Given the description of an element on the screen output the (x, y) to click on. 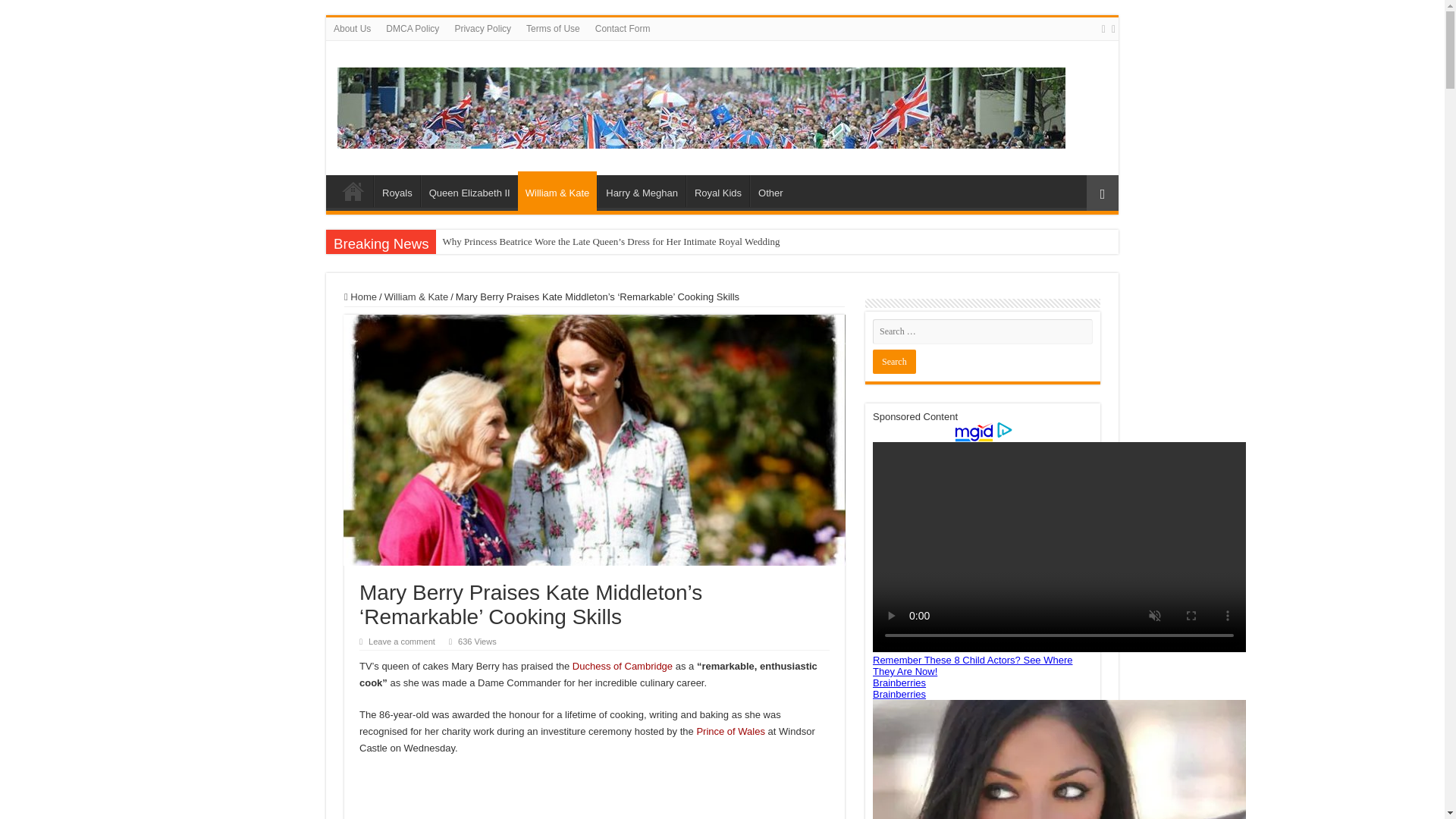
DMCA Policy (412, 28)
About Us (352, 28)
Search (893, 361)
Other (769, 191)
Search (893, 361)
Privacy Policy (482, 28)
Royals (397, 191)
Duchess of Cambridge (622, 665)
Leave a comment (401, 641)
Advertisement (594, 795)
